Given the description of an element on the screen output the (x, y) to click on. 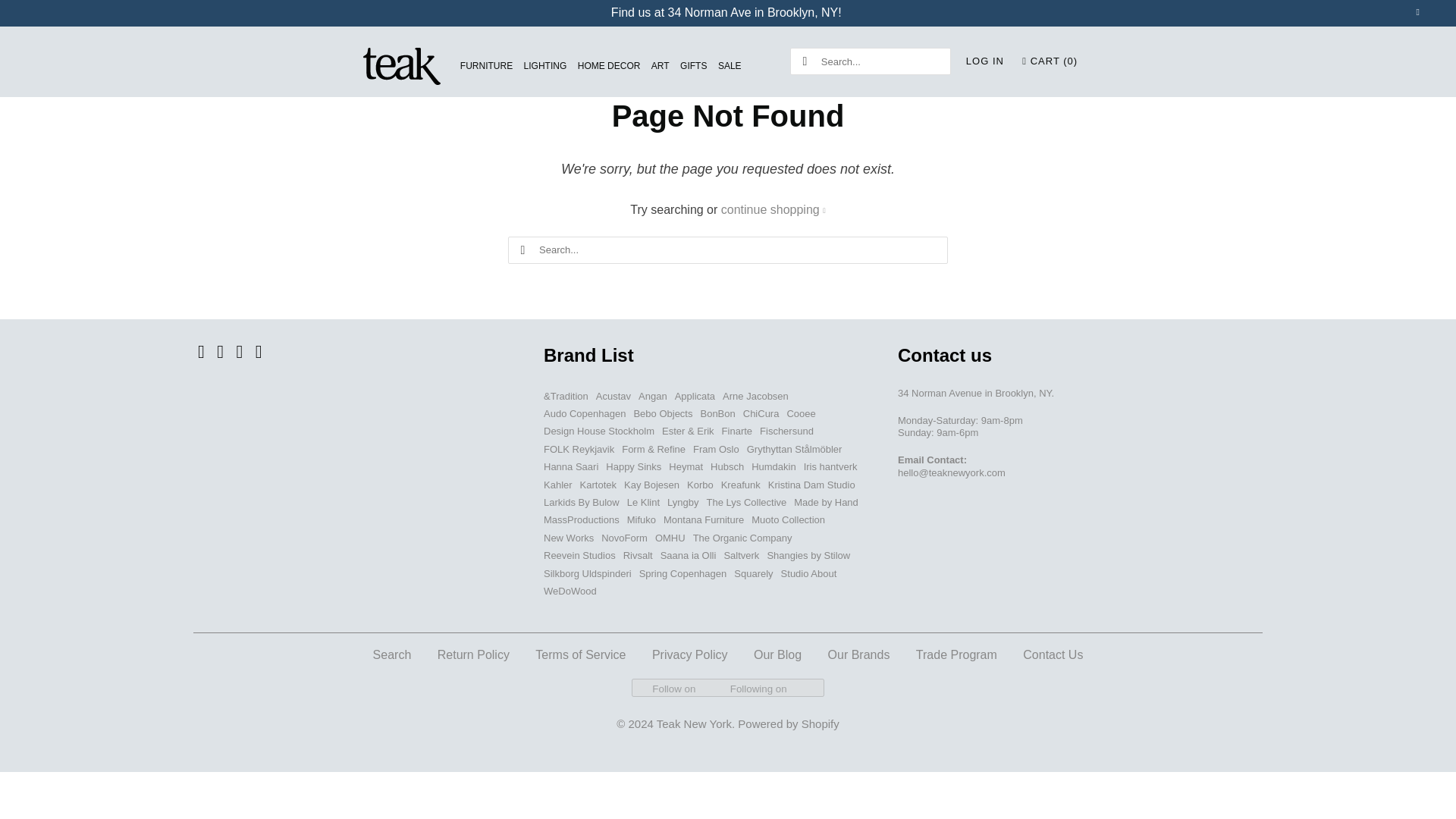
FURNITURE (486, 65)
GIFTS (692, 65)
Email Teak New York (258, 351)
LOG IN (985, 60)
LIGHTING (545, 65)
ChiCura (760, 413)
HOME DECOR (609, 65)
continue shopping (772, 209)
Applicata (694, 396)
Arne Jacobsen (755, 396)
Teak New York on Instagram (238, 351)
Bebo Objects (663, 413)
Teak New York (401, 66)
BonBon (717, 413)
SALE (729, 65)
